Given the description of an element on the screen output the (x, y) to click on. 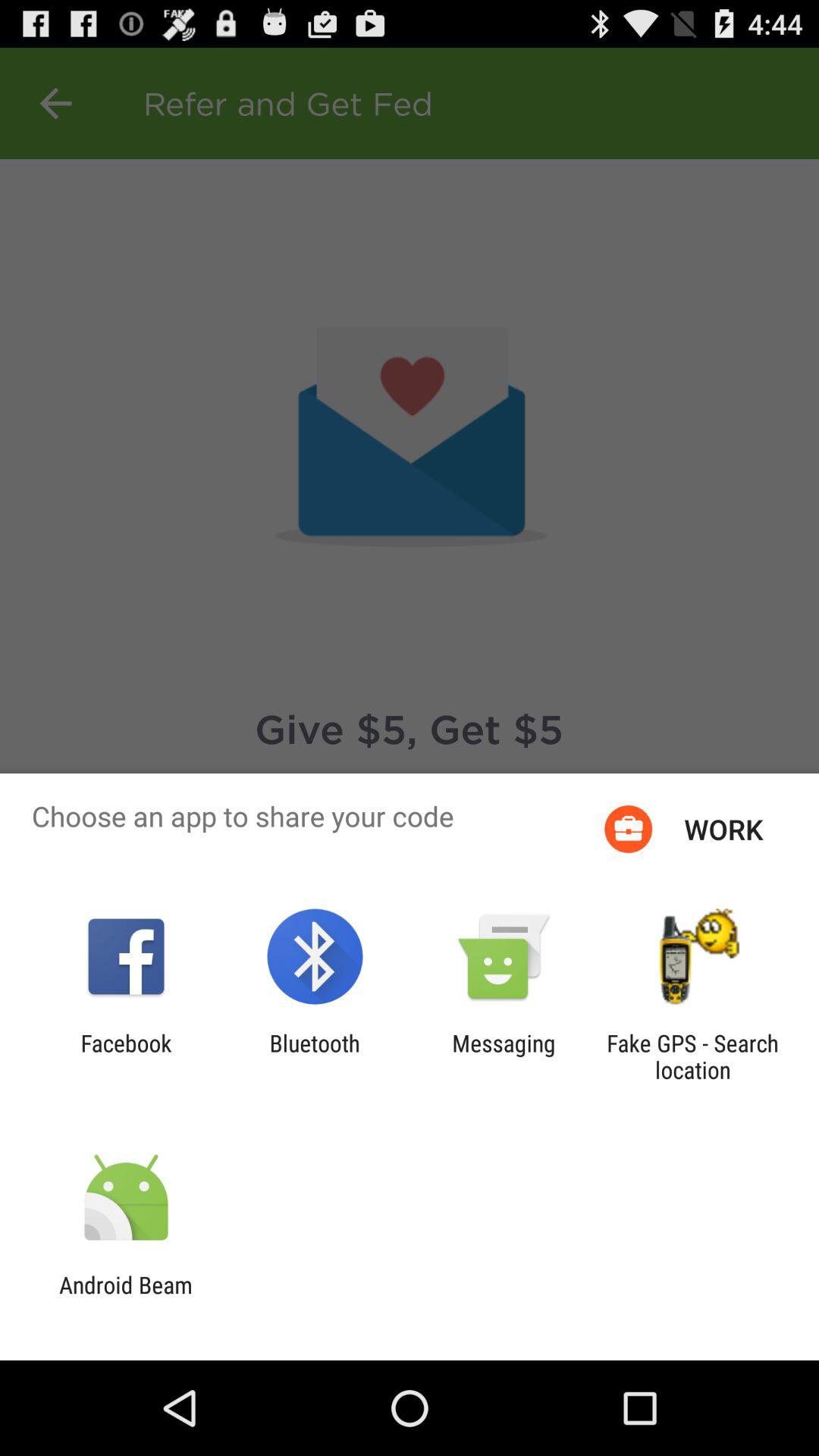
launch item next to the messaging app (314, 1056)
